Given the description of an element on the screen output the (x, y) to click on. 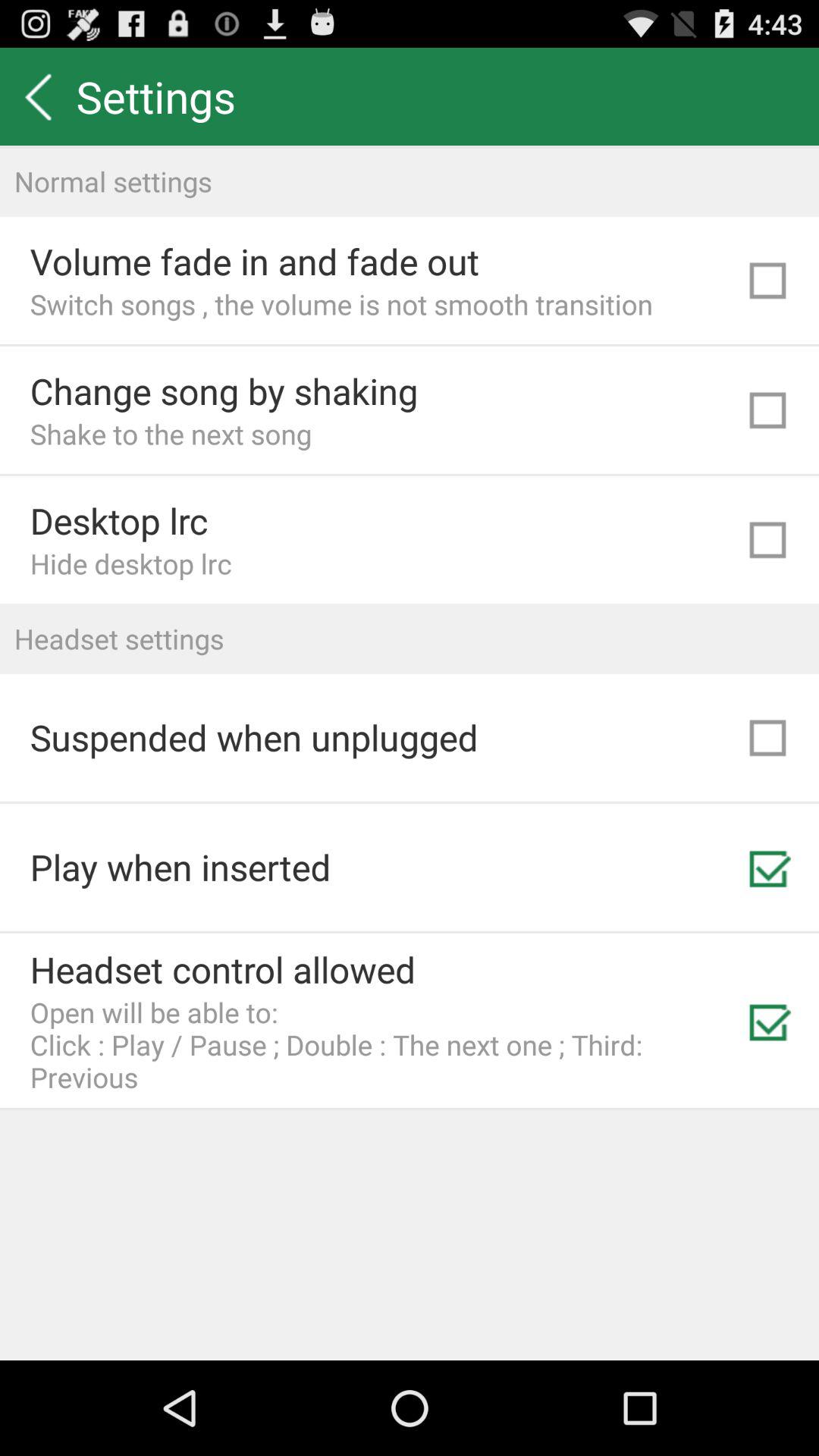
click play when inserted icon (180, 866)
